Given the description of an element on the screen output the (x, y) to click on. 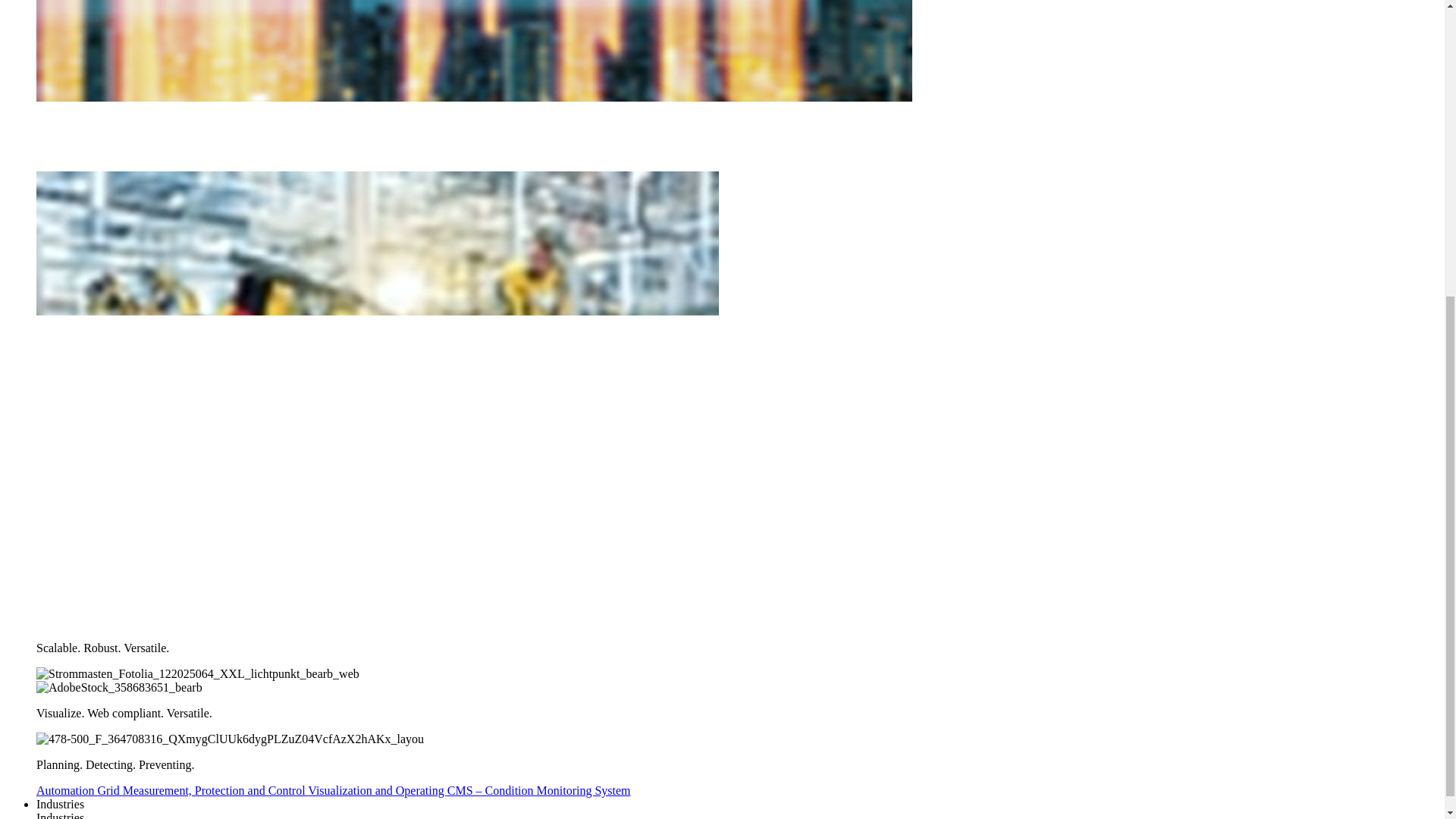
Grid Measurement, Protection and Control (202, 789)
Visualization and Operating (376, 789)
Automation (66, 789)
